Given the description of an element on the screen output the (x, y) to click on. 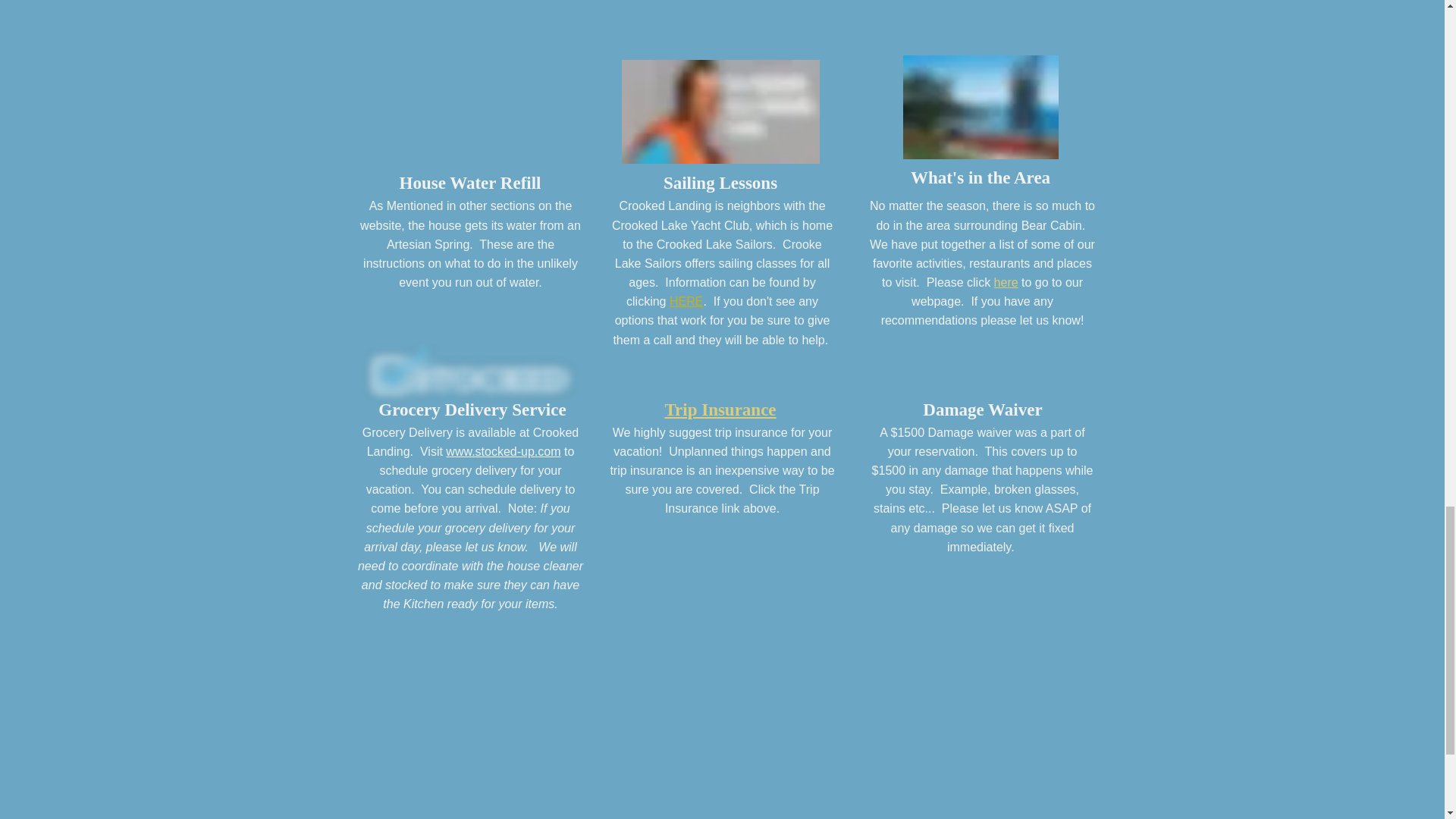
here (1005, 281)
Trip Insurance (719, 409)
HERE (686, 300)
www.stocked-up.com (502, 451)
